Given the description of an element on the screen output the (x, y) to click on. 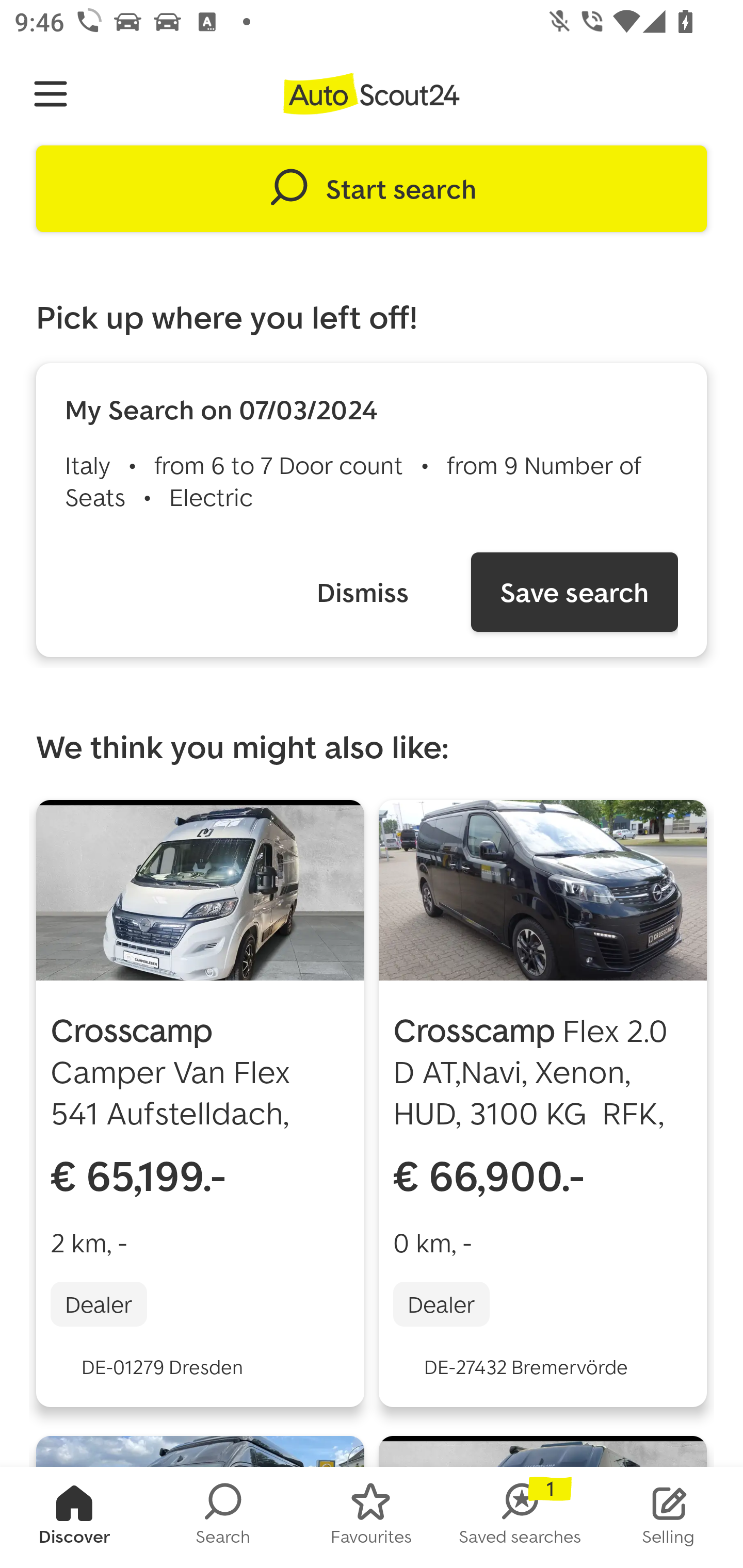
Navigate up (50, 93)
Start search (371, 188)
Dismiss (362, 591)
Save search (574, 591)
HOMESCREEN Discover (74, 1517)
SEARCH Search (222, 1517)
FAVORITES Favourites (371, 1517)
SAVED_SEARCHES Saved searches 1 (519, 1517)
STOCK_LIST Selling (668, 1517)
